Given the description of an element on the screen output the (x, y) to click on. 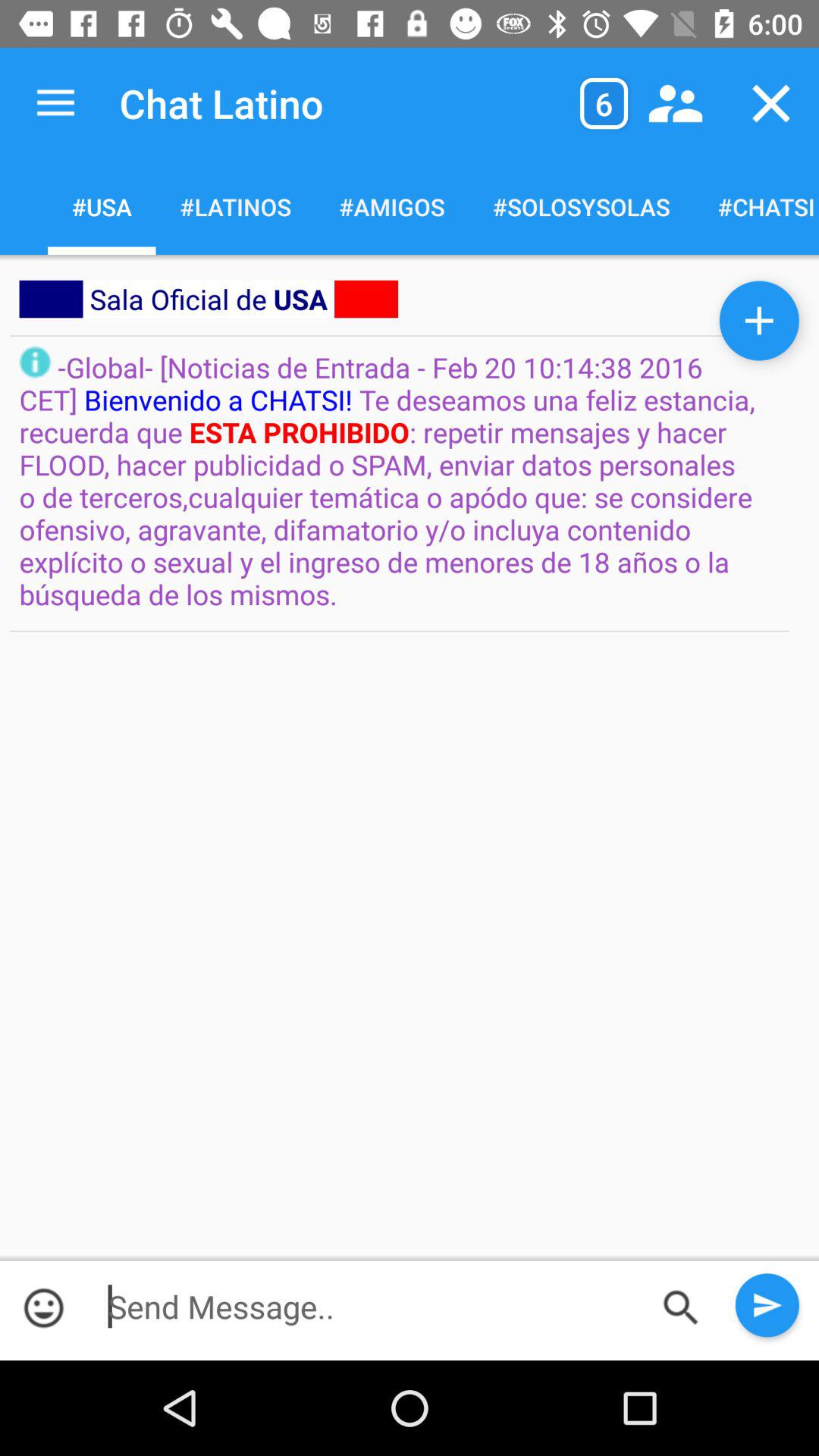
turn on item above the #solosysolas (603, 103)
